Given the description of an element on the screen output the (x, y) to click on. 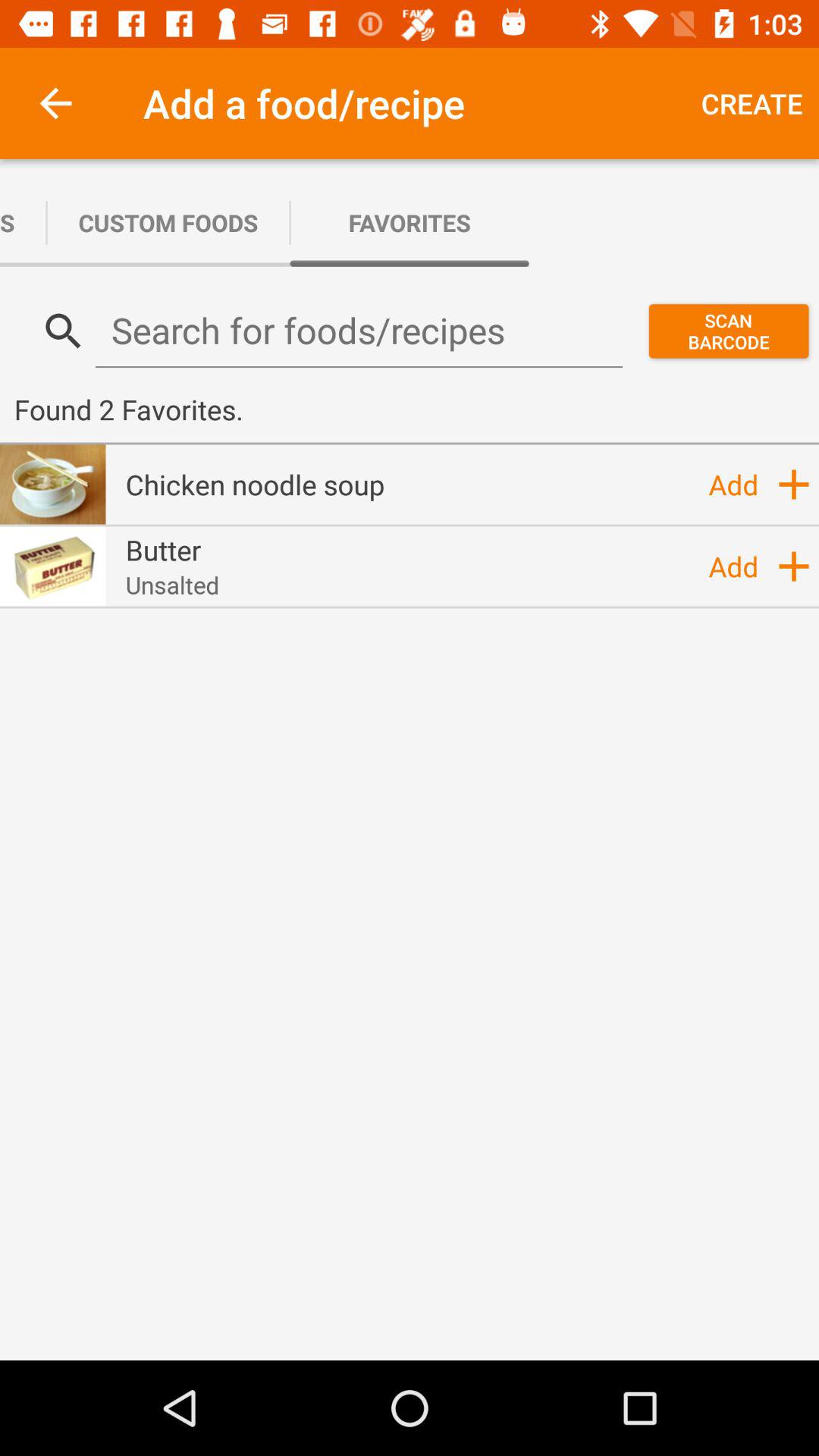
click the item below the add item (793, 566)
